Given the description of an element on the screen output the (x, y) to click on. 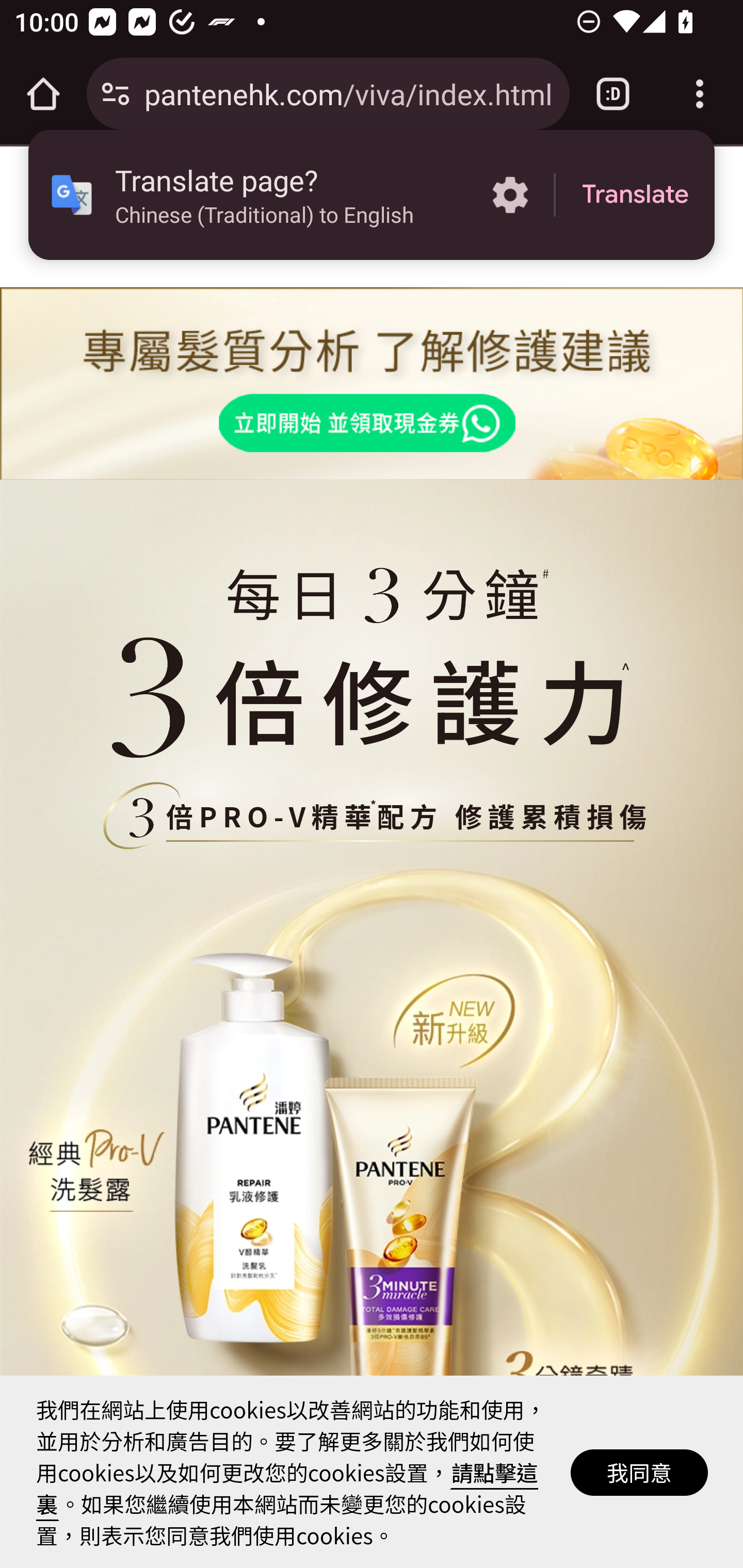
Open the home page (43, 93)
Connection is secure (115, 93)
Switch or close tabs (612, 93)
Customize and control Google Chrome (699, 93)
pantenehk.com/viva/index.html (349, 92)
Translate (634, 195)
More options in the Translate page? (509, 195)
coupon_mb (371, 384)
髮の神仙水系列 (371, 817)
我同意 (639, 1471)
請點擊這裏 (286, 1487)
